Given the description of an element on the screen output the (x, y) to click on. 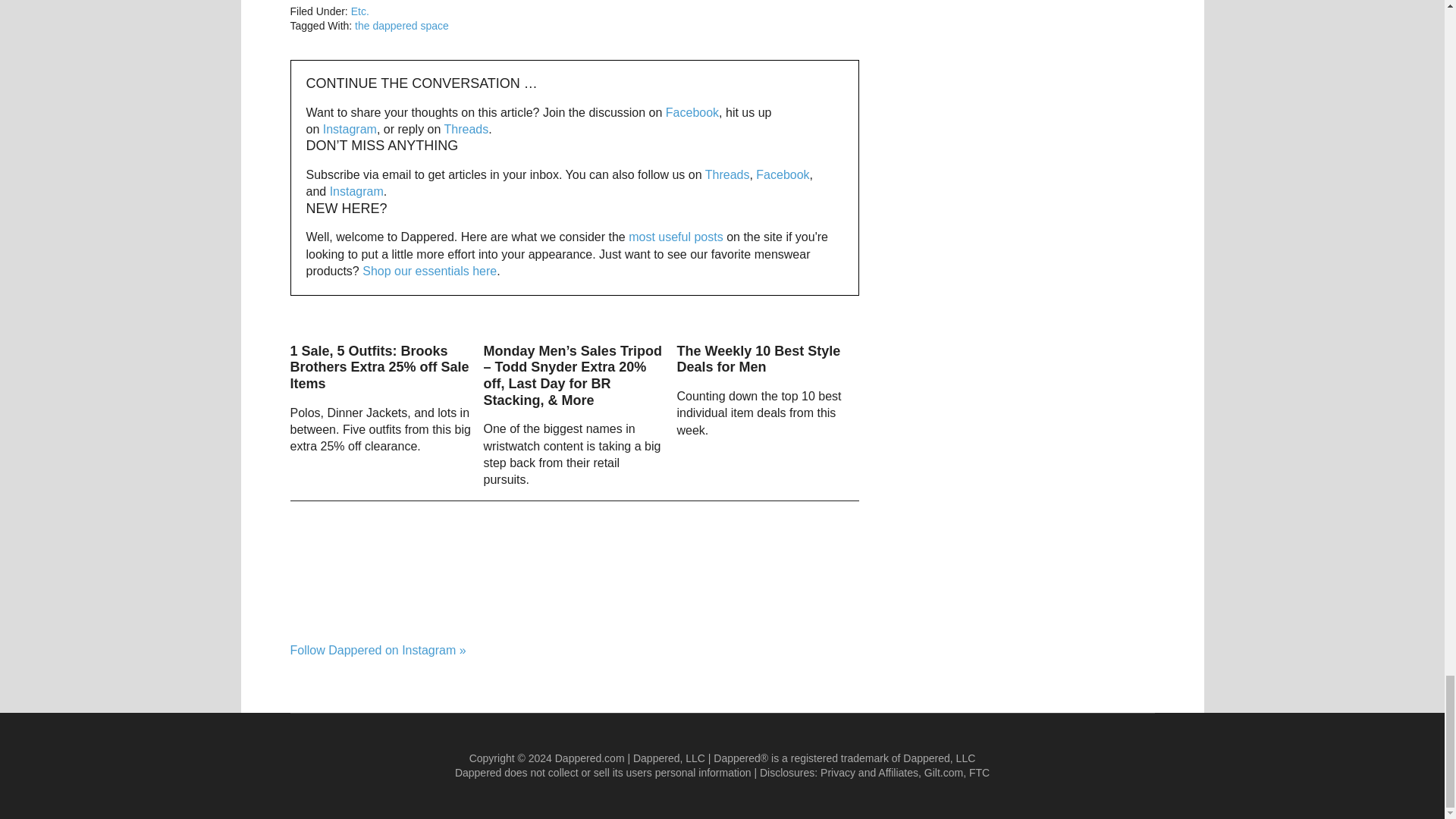
Privacy and Affiliate Disclosure (869, 772)
Threads (726, 174)
Instagram (350, 128)
Facebook (692, 112)
Gilt Disclosure (943, 772)
Threads (466, 128)
Etc. (359, 10)
the dappered space (401, 25)
Dappered FTC Disclosures (979, 772)
